Given the description of an element on the screen output the (x, y) to click on. 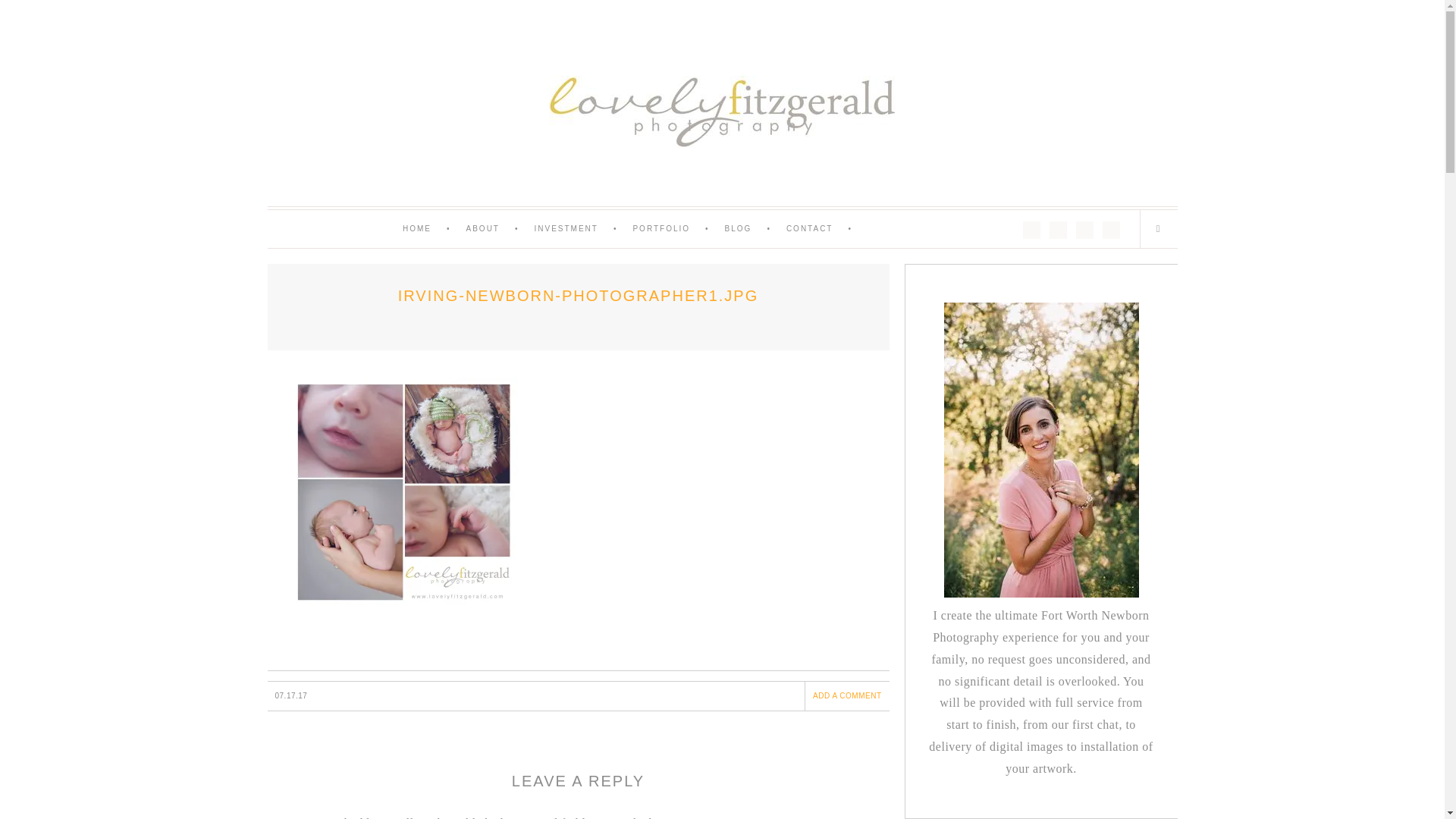
PORTFOLIO (677, 228)
HOME (434, 228)
INVESTMENT (582, 228)
LOVELY FITZGERALD PHOTOGRAPHY (721, 112)
CONTACT (826, 228)
ABOUT (499, 228)
BLOG (755, 228)
ADD A COMMENT (846, 695)
